Given the description of an element on the screen output the (x, y) to click on. 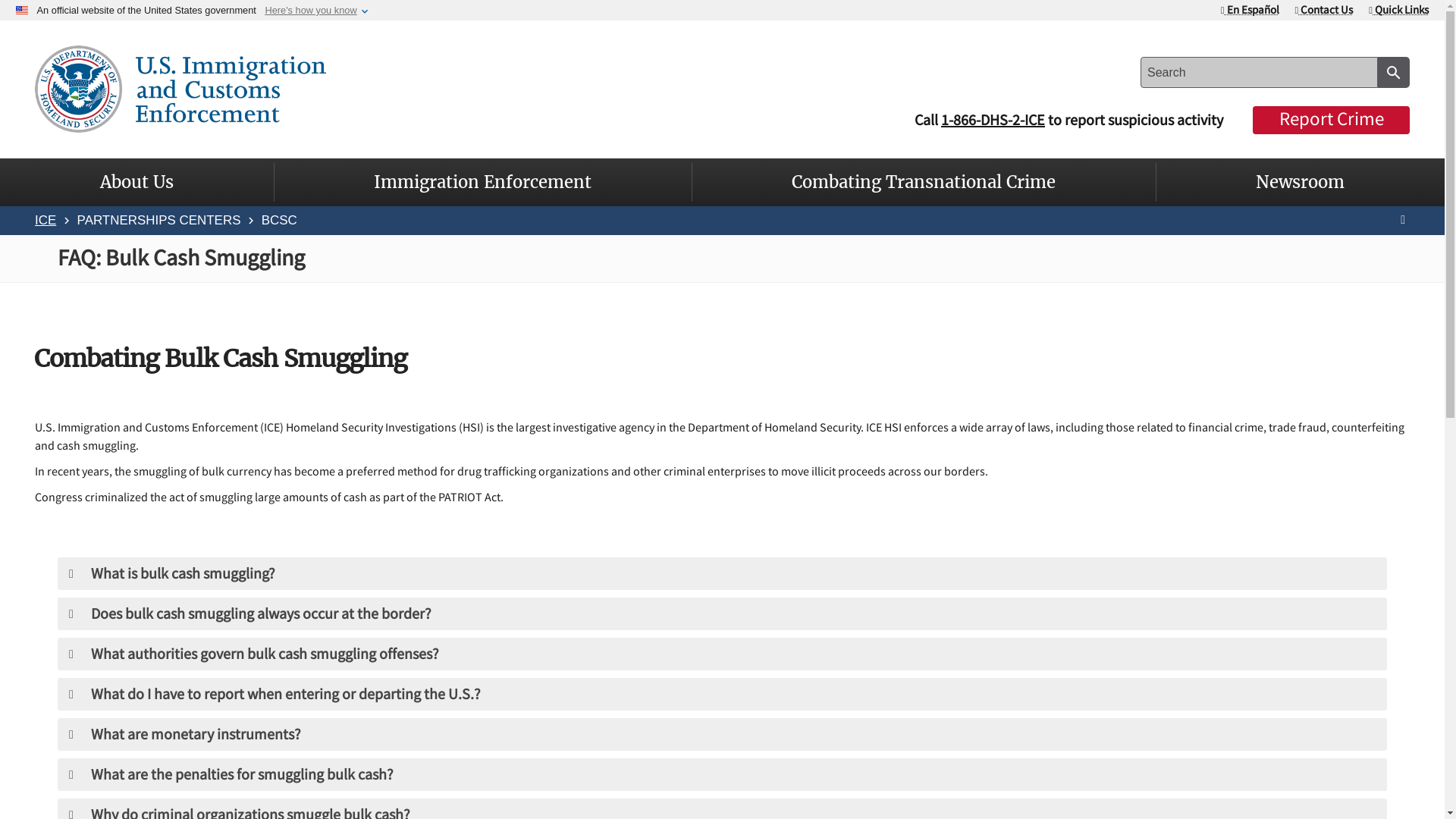
Quick Links (1398, 9)
Here's how you know (310, 9)
Contact Us (1324, 9)
Report Crime (1330, 120)
Immigration Enforcement (482, 182)
Click to search ICE.gov (1393, 71)
Enter the terms you wish to search for. (1258, 71)
Click here to open the Immigration Enforcement menu (482, 182)
1-866-DHS-2-ICE (992, 119)
Home (180, 86)
